Given the description of an element on the screen output the (x, y) to click on. 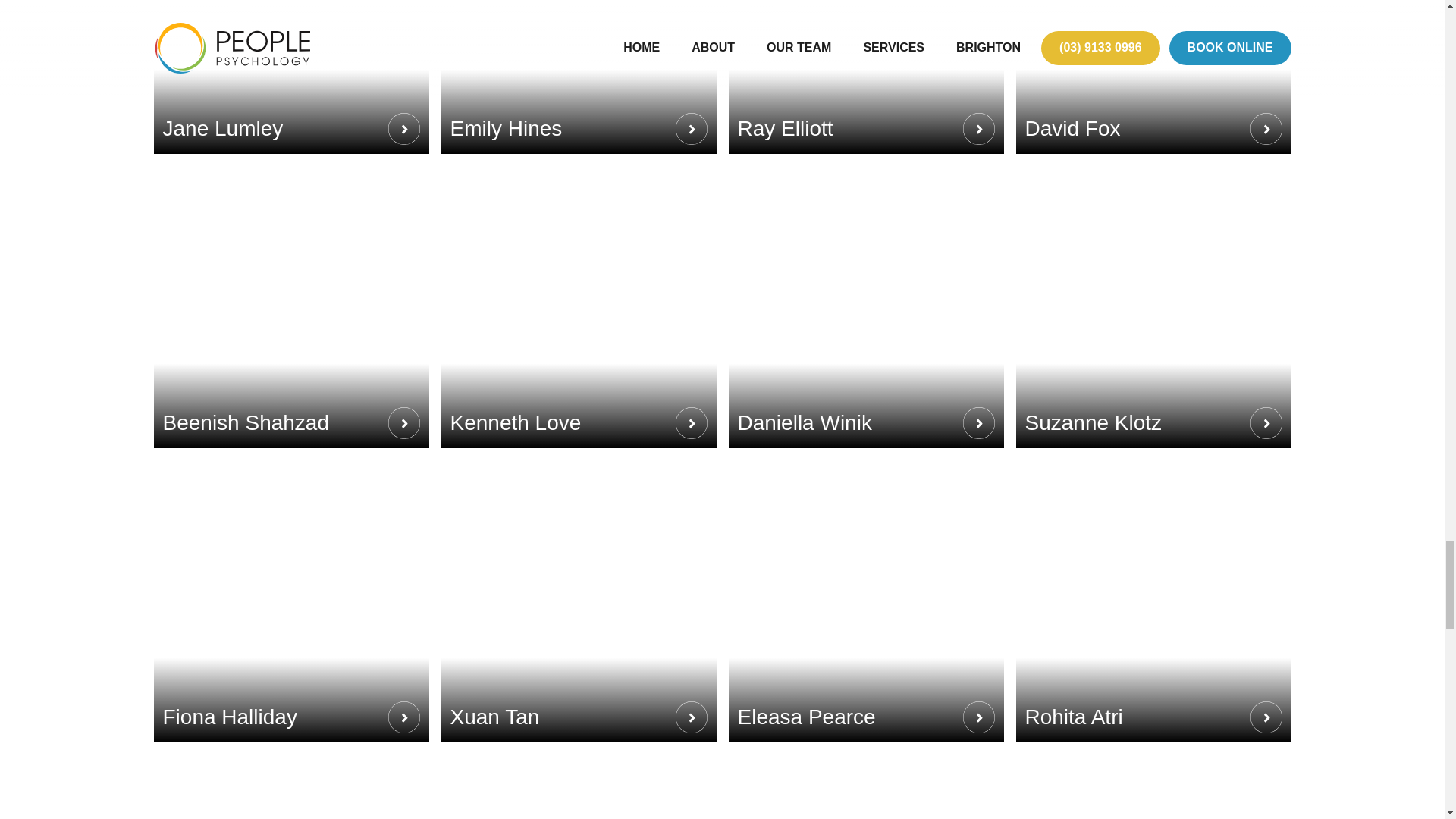
Eleasa Pearce (865, 601)
Kenneth Love (578, 306)
Leigh Milne (578, 786)
Daniella Winik (865, 306)
Francesco Poci (290, 786)
Jane Lumley (290, 76)
Fiona Halliday (290, 601)
Xuan Tan (578, 601)
Emily Hines (578, 76)
Shana Osborne (865, 786)
